Given the description of an element on the screen output the (x, y) to click on. 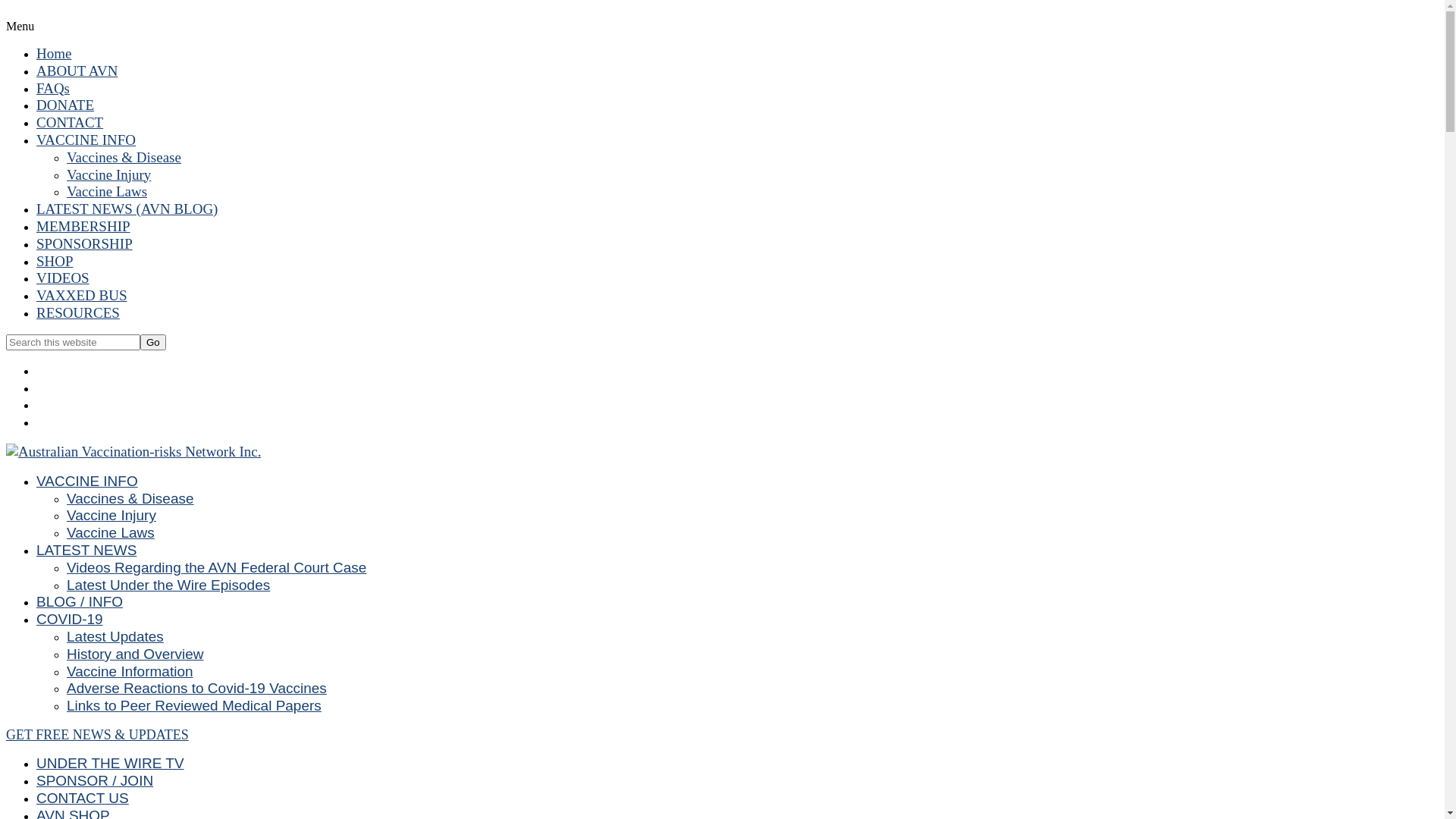
DONATE Element type: text (65, 104)
Home Element type: text (53, 53)
Go Element type: text (153, 342)
FAQs Element type: text (52, 88)
CONTACT US Element type: text (82, 798)
SPONSOR / JOIN Element type: text (94, 780)
Vaccines & Disease Element type: text (130, 498)
Adverse Reactions to Covid-19 Vaccines Element type: text (196, 688)
Vaccines & Disease Element type: text (123, 157)
Vaccine Laws Element type: text (110, 532)
Latest Under the Wire Episodes Element type: text (167, 585)
VACCINE INFO Element type: text (87, 481)
BLOG / INFO Element type: text (79, 601)
UNDER THE WIRE TV Element type: text (110, 763)
COVID-19 Element type: text (69, 619)
Vaccine Injury Element type: text (111, 515)
Vaccine Information Element type: text (129, 670)
LATEST NEWS (AVN BLOG) Element type: text (126, 208)
VACCINE INFO Element type: text (85, 139)
LATEST NEWS Element type: text (86, 550)
History and Overview Element type: text (134, 654)
Vaccine Injury Element type: text (108, 174)
MEMBERSHIP Element type: text (83, 226)
VAXXED BUS Element type: text (81, 295)
Videos Regarding the AVN Federal Court Case Element type: text (216, 567)
SHOP Element type: text (54, 261)
SPONSORSHIP Element type: text (84, 243)
Latest Updates Element type: text (114, 636)
CONTACT Element type: text (69, 122)
GET FREE NEWS & UPDATES Element type: text (97, 734)
VIDEOS Element type: text (62, 277)
ABOUT AVN Element type: text (77, 70)
RESOURCES Element type: text (77, 312)
Links to Peer Reviewed Medical Papers Element type: text (193, 705)
Vaccine Laws Element type: text (106, 191)
